Given the description of an element on the screen output the (x, y) to click on. 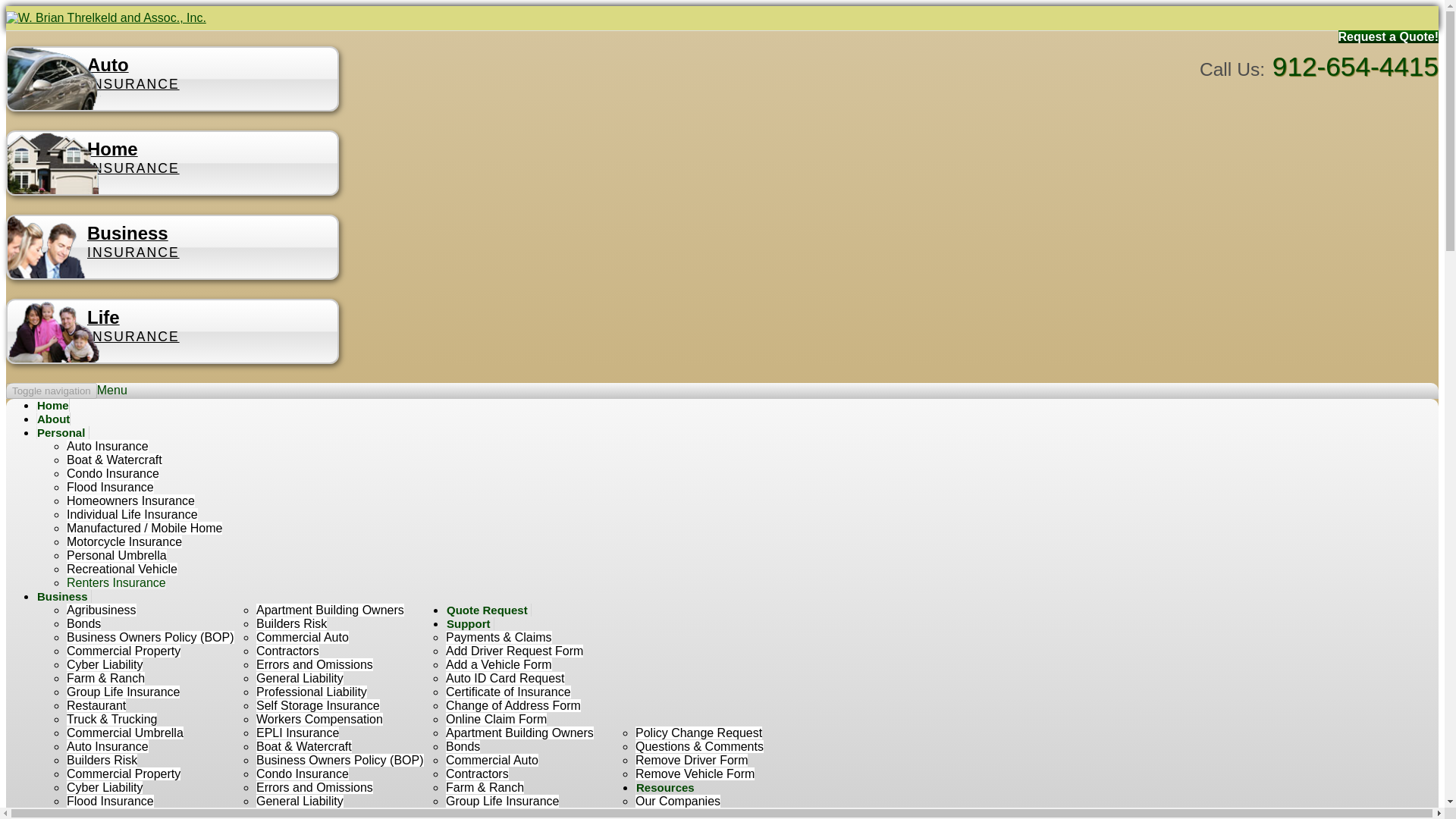
Flood Insurance (110, 486)
Errors and Omissions (314, 664)
Request a Quote! (1388, 36)
Agribusiness (101, 609)
Personal (62, 431)
Professional Liability (311, 691)
Contractors (287, 650)
About (52, 418)
Commercial Property (123, 650)
Self Storage Insurance (318, 705)
